Given the description of an element on the screen output the (x, y) to click on. 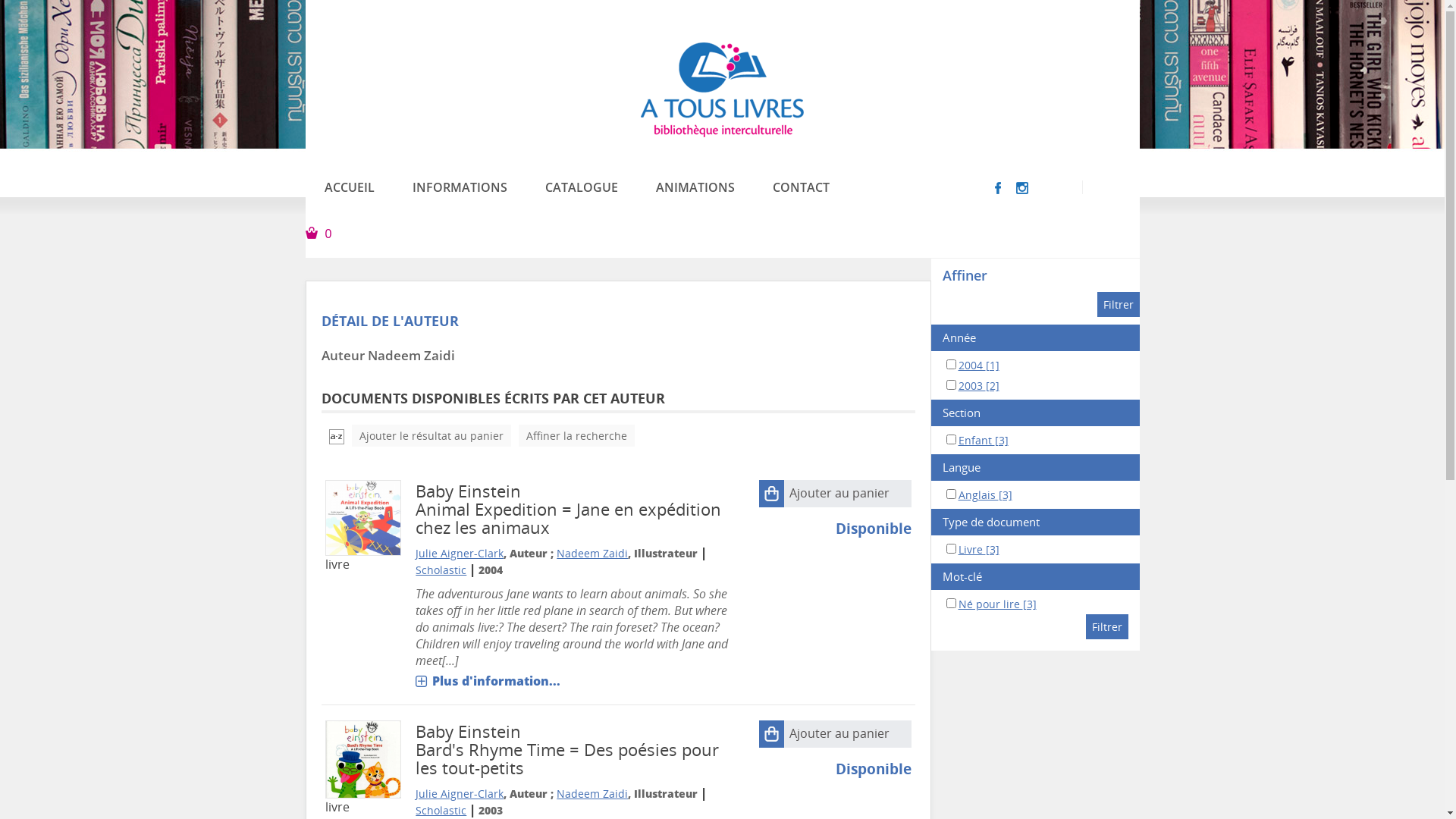
Livre [3] Element type: text (978, 549)
CATALOGUE Element type: text (581, 187)
Anglais [3] Element type: text (985, 494)
Disponible Element type: text (873, 768)
Nadeem Zaidi Element type: text (591, 553)
Filtrer Element type: text (1117, 303)
Scholastic Element type: text (440, 810)
Plus d'information... Element type: text (487, 680)
Julie Aigner-Clark Element type: text (459, 793)
Logo portail Element type: hover (722, 88)
Tris disponibles Element type: hover (336, 435)
Facebook Element type: hover (997, 186)
Scholastic Element type: text (440, 569)
Enfant [3] Element type: text (983, 440)
Disponible Element type: text (873, 527)
CONTACT Element type: text (800, 187)
Type de document Element type: text (1035, 521)
ANIMATIONS Element type: text (695, 187)
ACCUEIL Element type: text (348, 187)
2004 [1] Element type: text (978, 364)
Affiner la recherche Element type: text (576, 435)
INFORMATIONS Element type: text (458, 187)
Langue Element type: text (1035, 467)
2003 [2] Element type: text (978, 385)
Section Element type: text (1035, 412)
Nadeem Zaidi Element type: text (591, 793)
Ajouter au panier Element type: text (835, 493)
Instagram Element type: hover (1022, 186)
Filtrer Element type: text (1106, 626)
Julie Aigner-Clark Element type: text (459, 553)
Ajouter au panier Element type: text (835, 733)
